Given the description of an element on the screen output the (x, y) to click on. 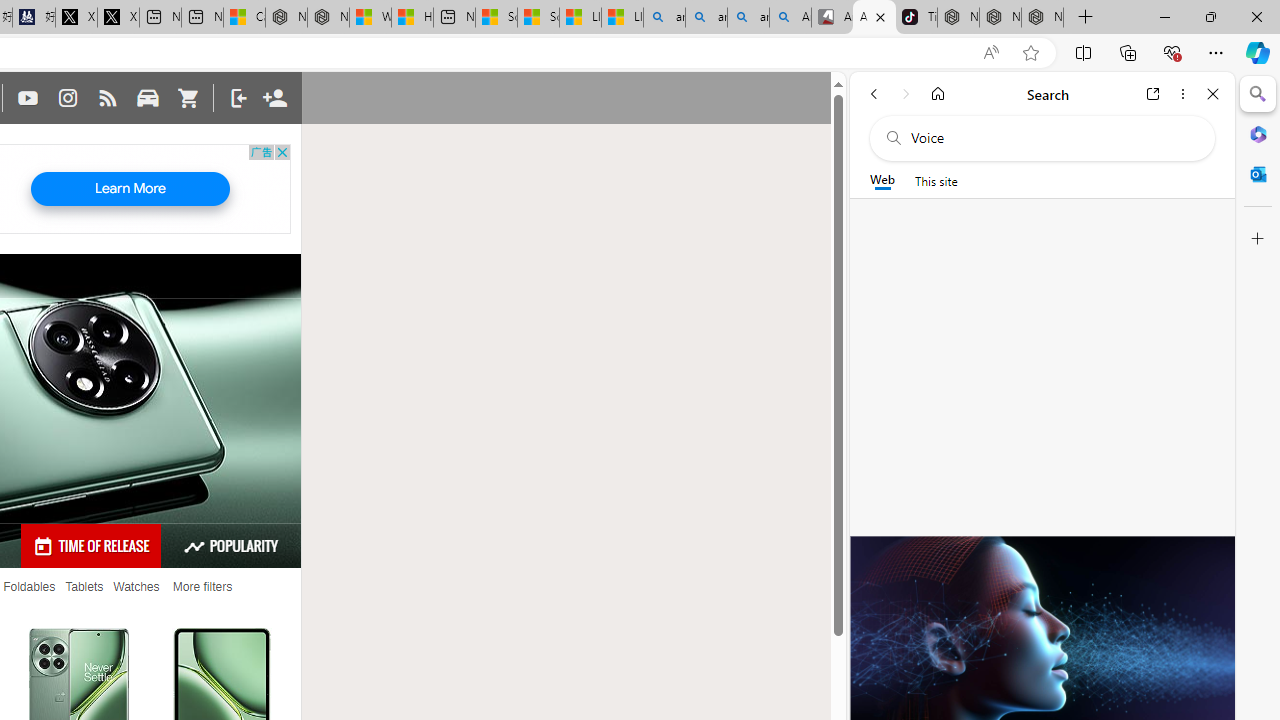
More filters (202, 587)
Watches (136, 587)
Forward (906, 93)
Customize (1258, 239)
